Given the description of an element on the screen output the (x, y) to click on. 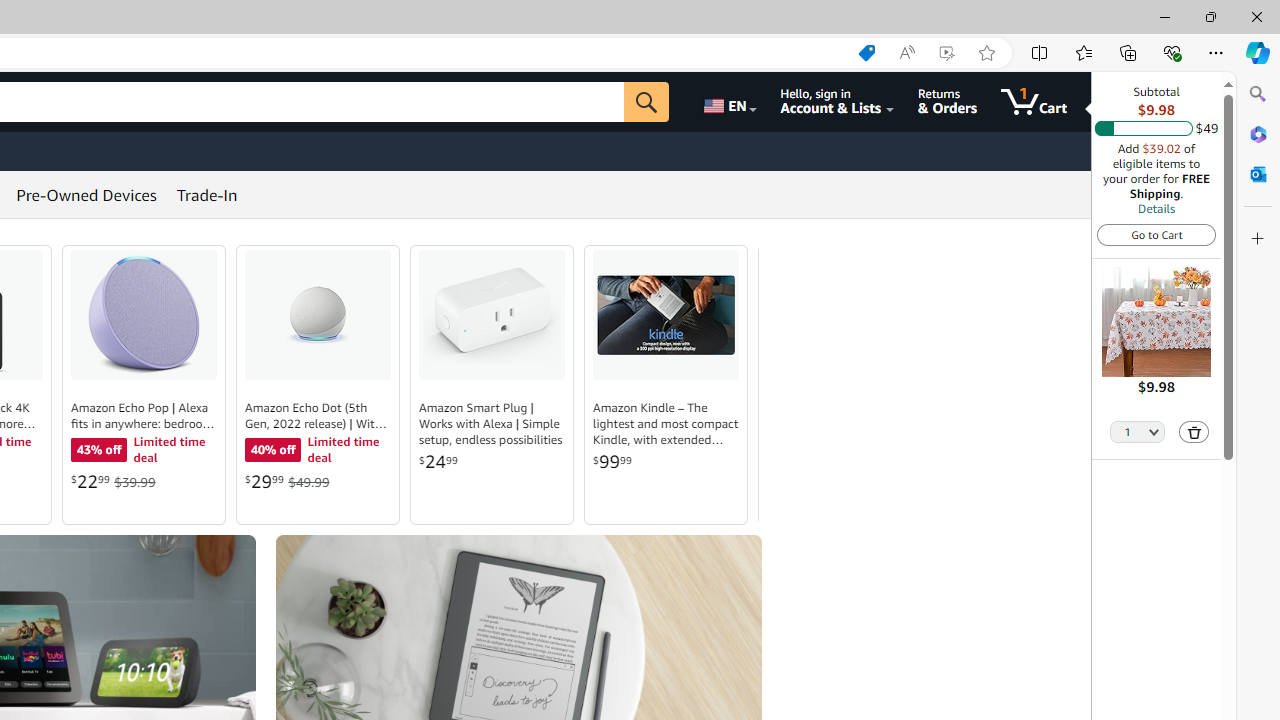
Outlook (1258, 174)
Go to Cart (1156, 234)
Quantity Selector (1137, 430)
Trade-In (207, 194)
